Given the description of an element on the screen output the (x, y) to click on. 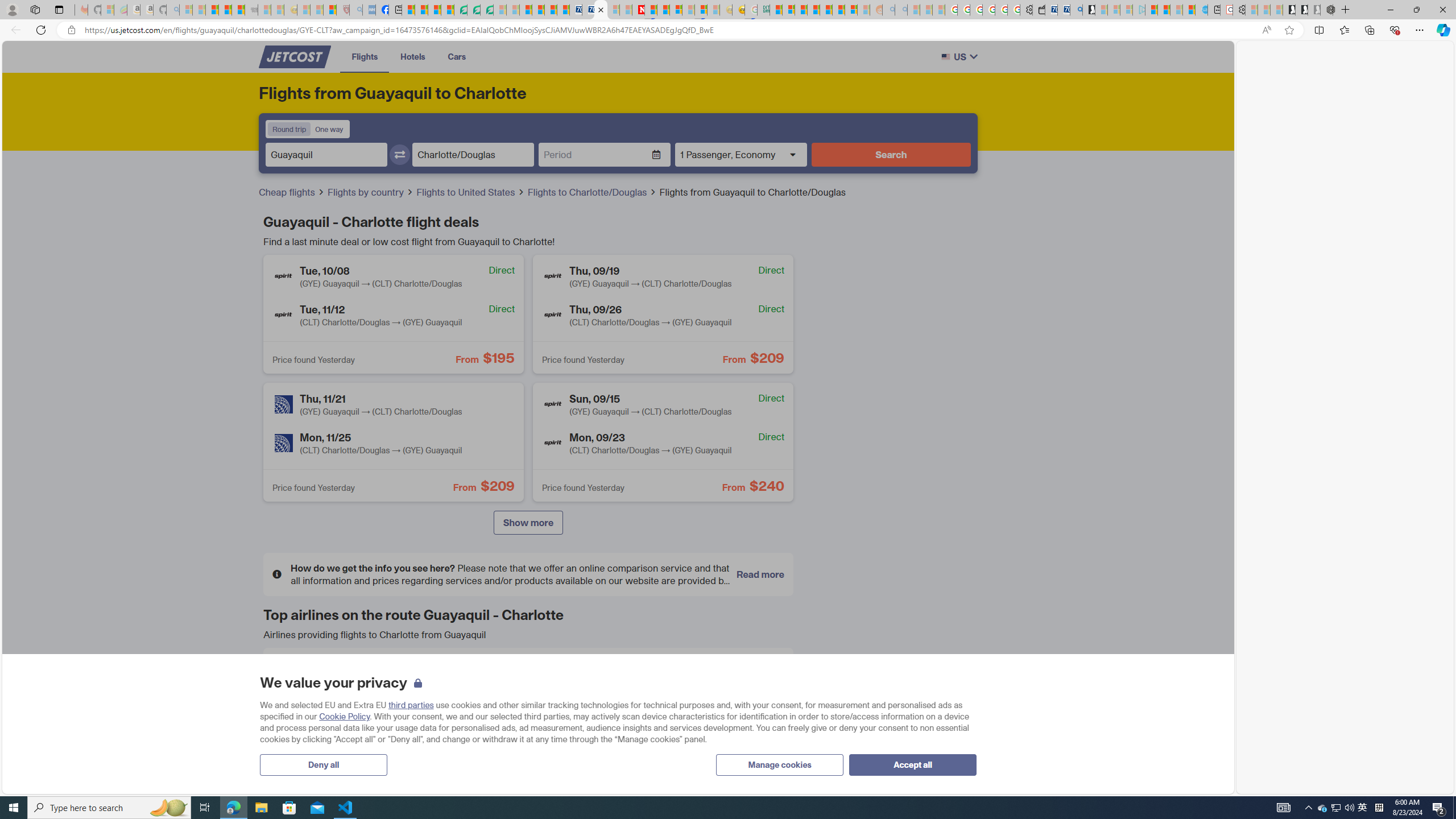
Copilot (Ctrl+Shift+.) (1442, 29)
Flights by country (370, 191)
Flights to United States (466, 191)
Flights from Guayaquil to Charlotte/Douglas (752, 191)
Arrival place (472, 154)
Refresh (40, 29)
Student Loan Update: Forgiveness Program Ends This Month (813, 9)
Cheap Car Rentals - Save70.com (1063, 9)
